Given the description of an element on the screen output the (x, y) to click on. 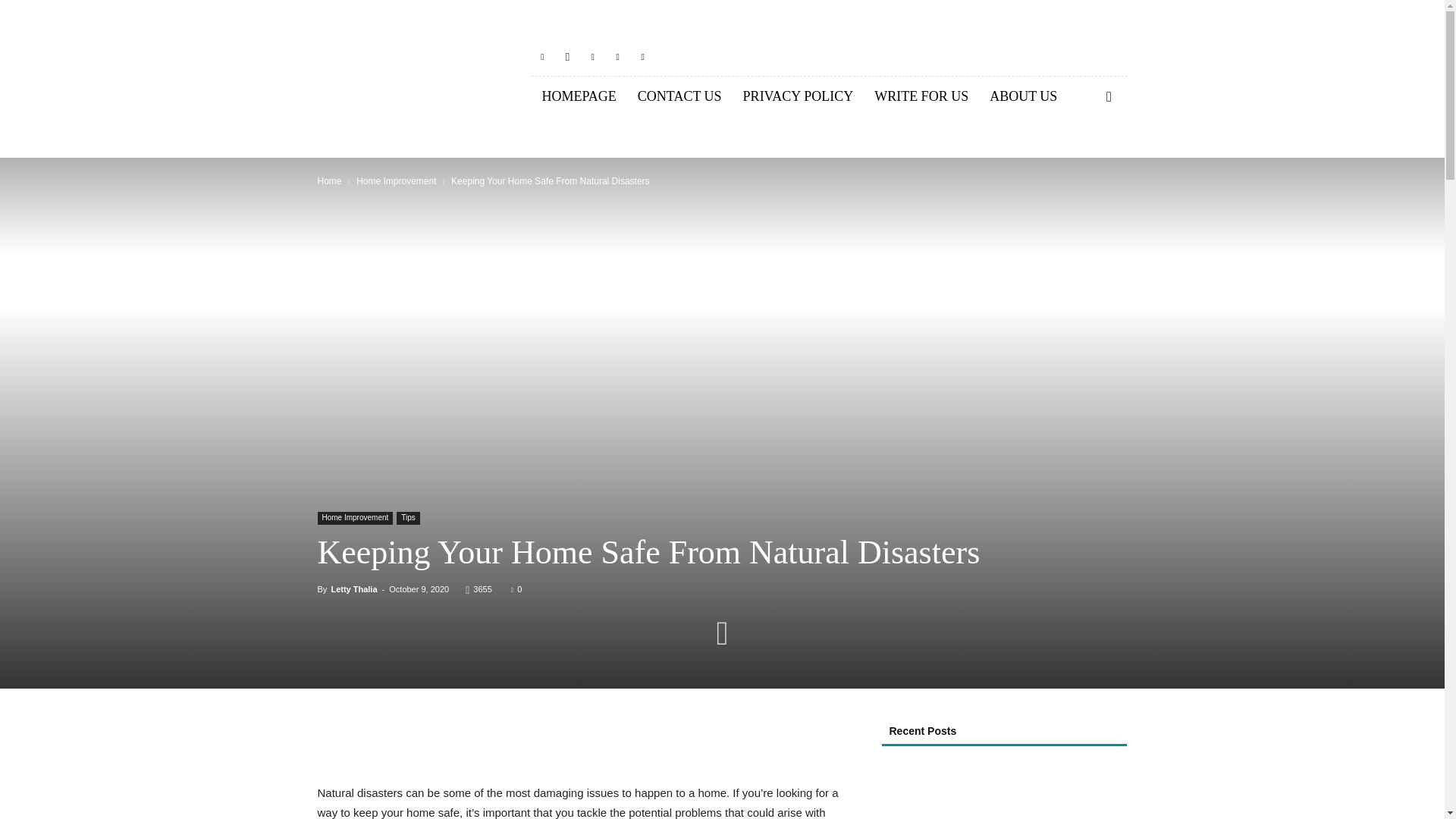
View all posts in Home Improvement (395, 181)
Tips (408, 517)
Instagram (567, 55)
HOMEPAGE (578, 96)
Home Improvement (395, 181)
CONTACT US (679, 96)
0 (516, 588)
Home (328, 181)
ABOUT US (1022, 96)
Letty Thalia (353, 588)
